Given the description of an element on the screen output the (x, y) to click on. 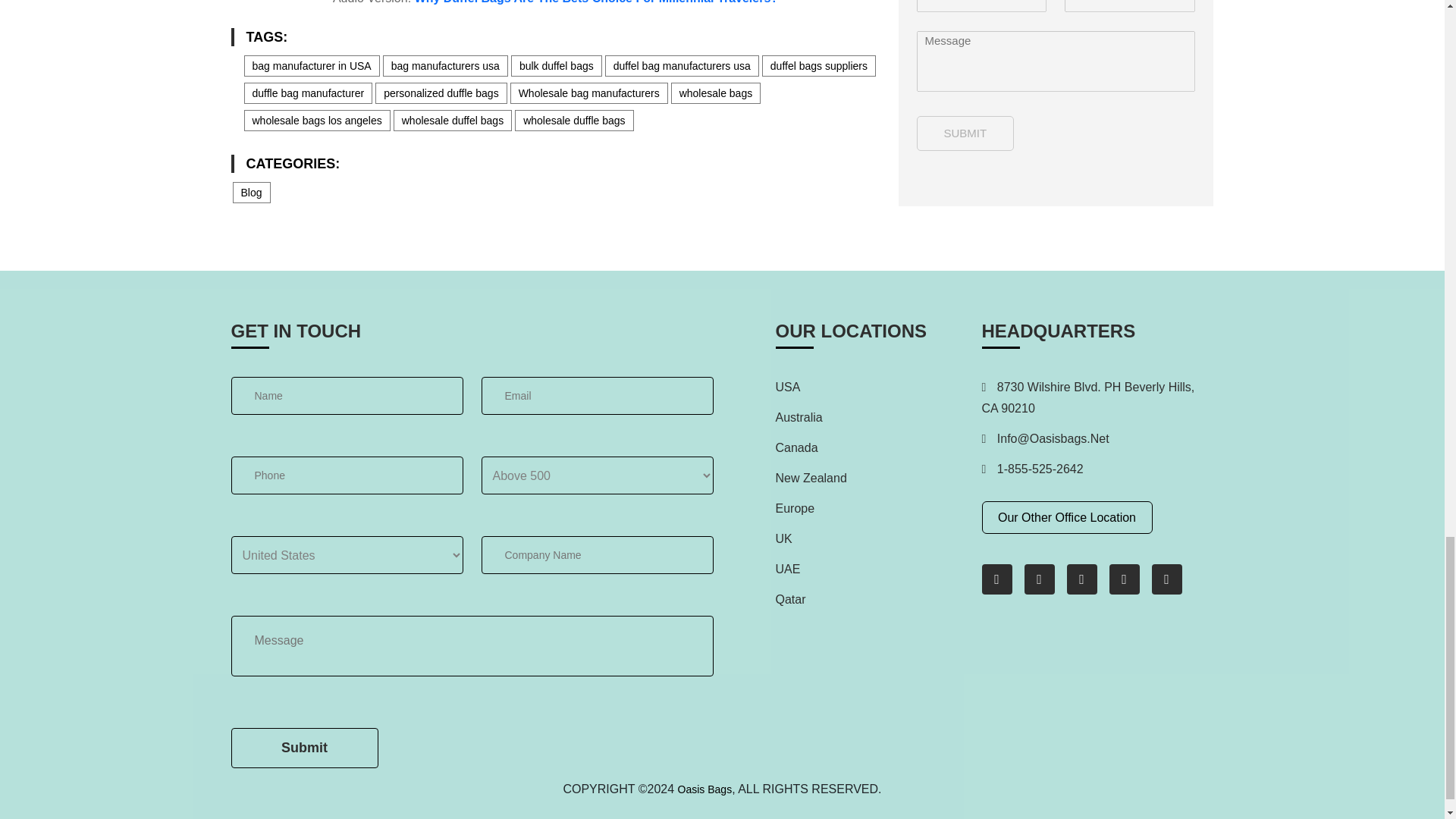
Submit (303, 748)
bag manufacturers usa (445, 65)
bag manufacturer in USA (312, 65)
